Given the description of an element on the screen output the (x, y) to click on. 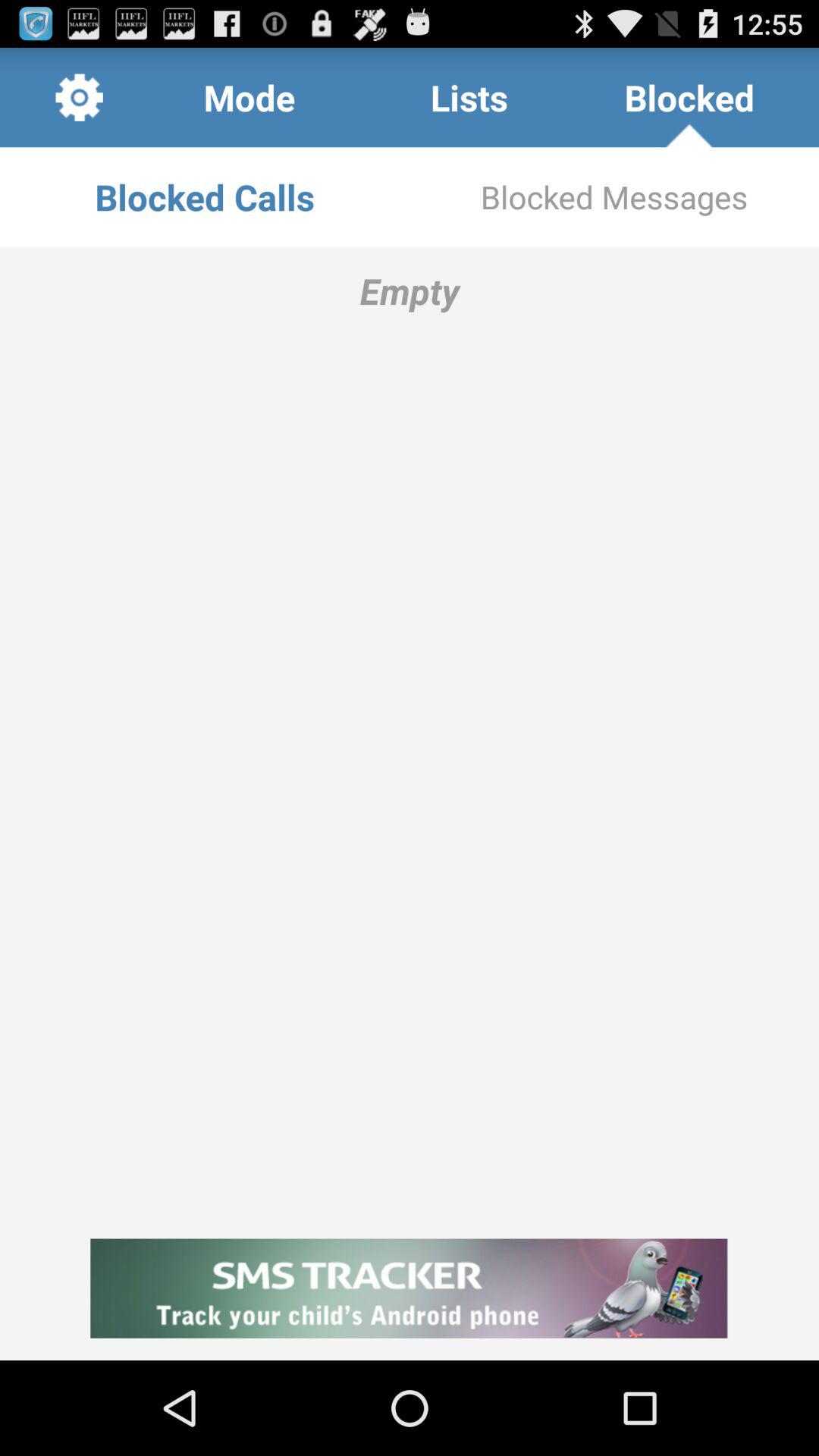
launch the blocked calls item (204, 196)
